Given the description of an element on the screen output the (x, y) to click on. 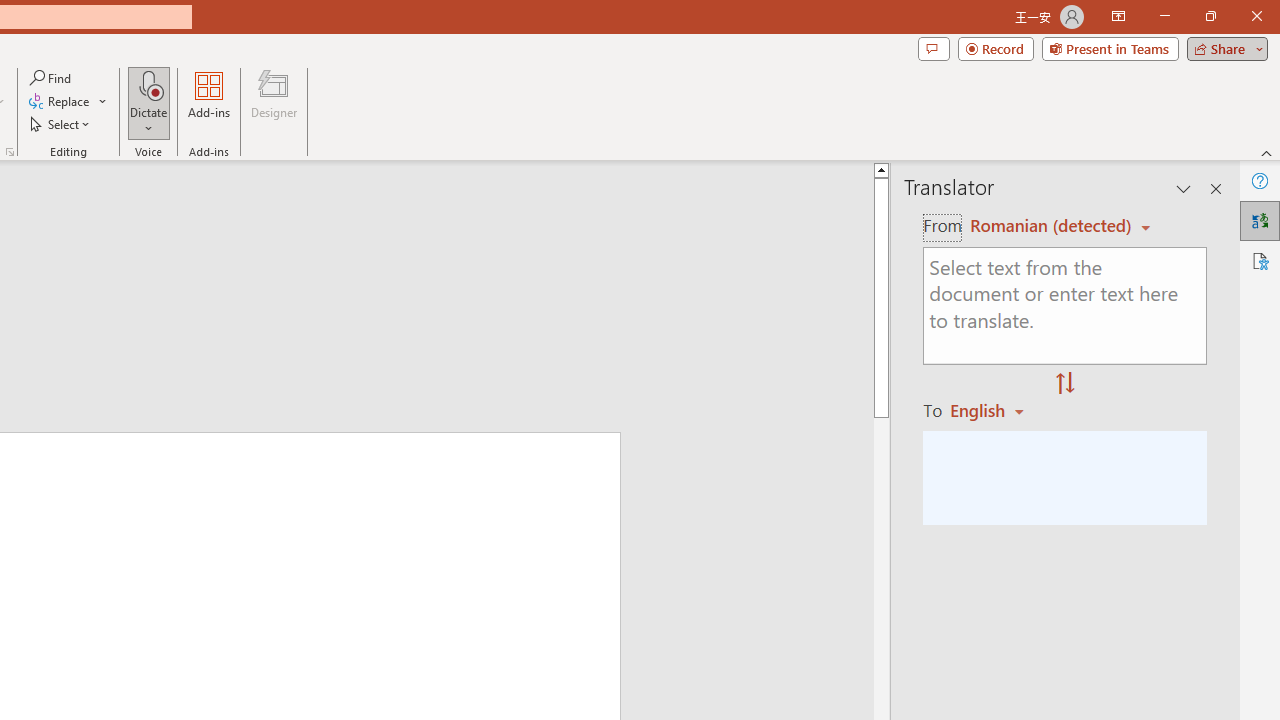
Swap "from" and "to" languages. (1065, 383)
